Given the description of an element on the screen output the (x, y) to click on. 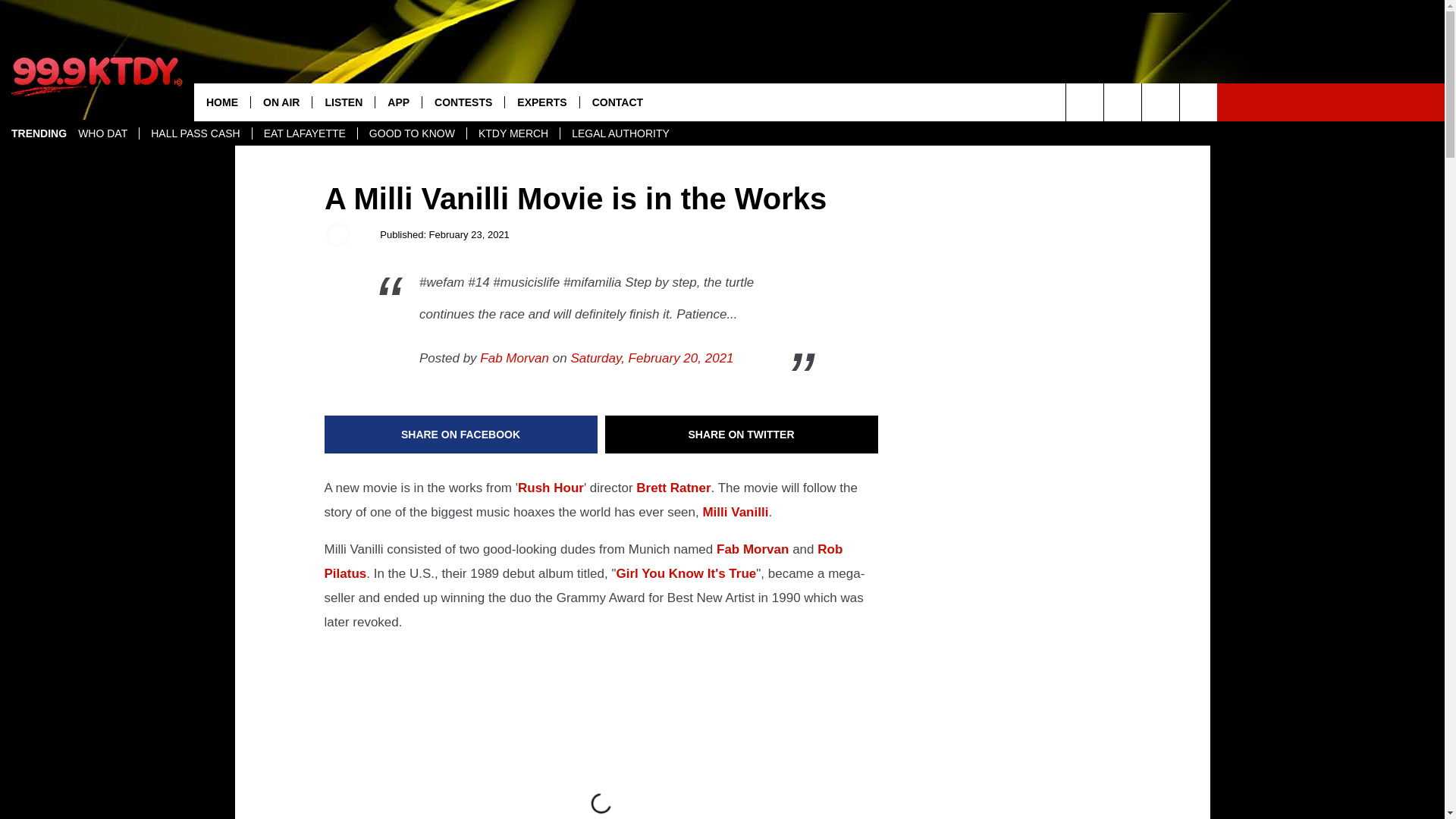
Share on Twitter (741, 434)
LEGAL AUTHORITY (620, 133)
LISTEN (342, 102)
HALL PASS CASH (194, 133)
HOME (221, 102)
EXPERTS (540, 102)
EAT LAFAYETTE (303, 133)
APP (398, 102)
Share on Facebook (460, 434)
WHO DAT (102, 133)
